Given the description of an element on the screen output the (x, y) to click on. 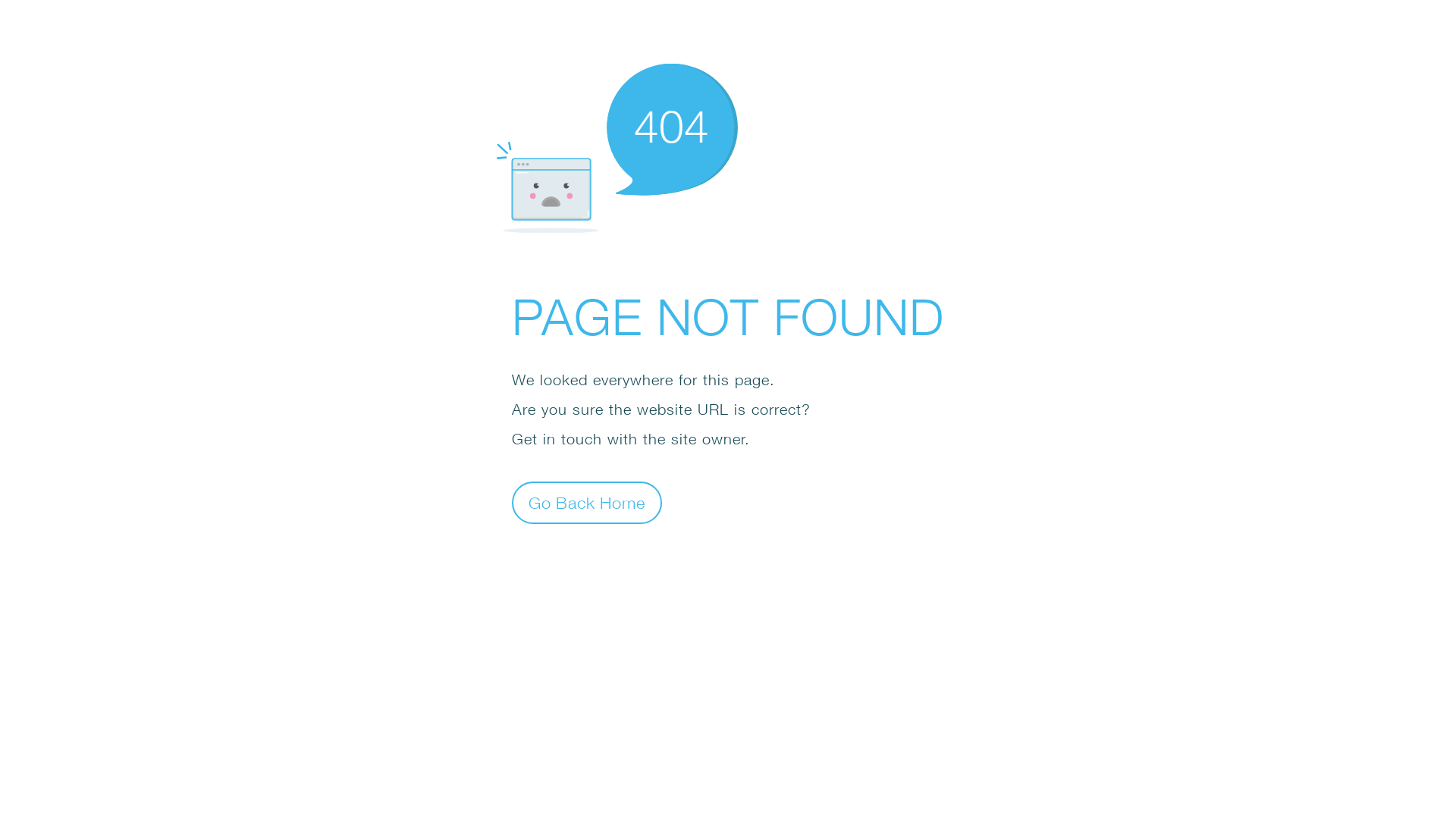
Go Back Home Element type: text (586, 502)
